Given the description of an element on the screen output the (x, y) to click on. 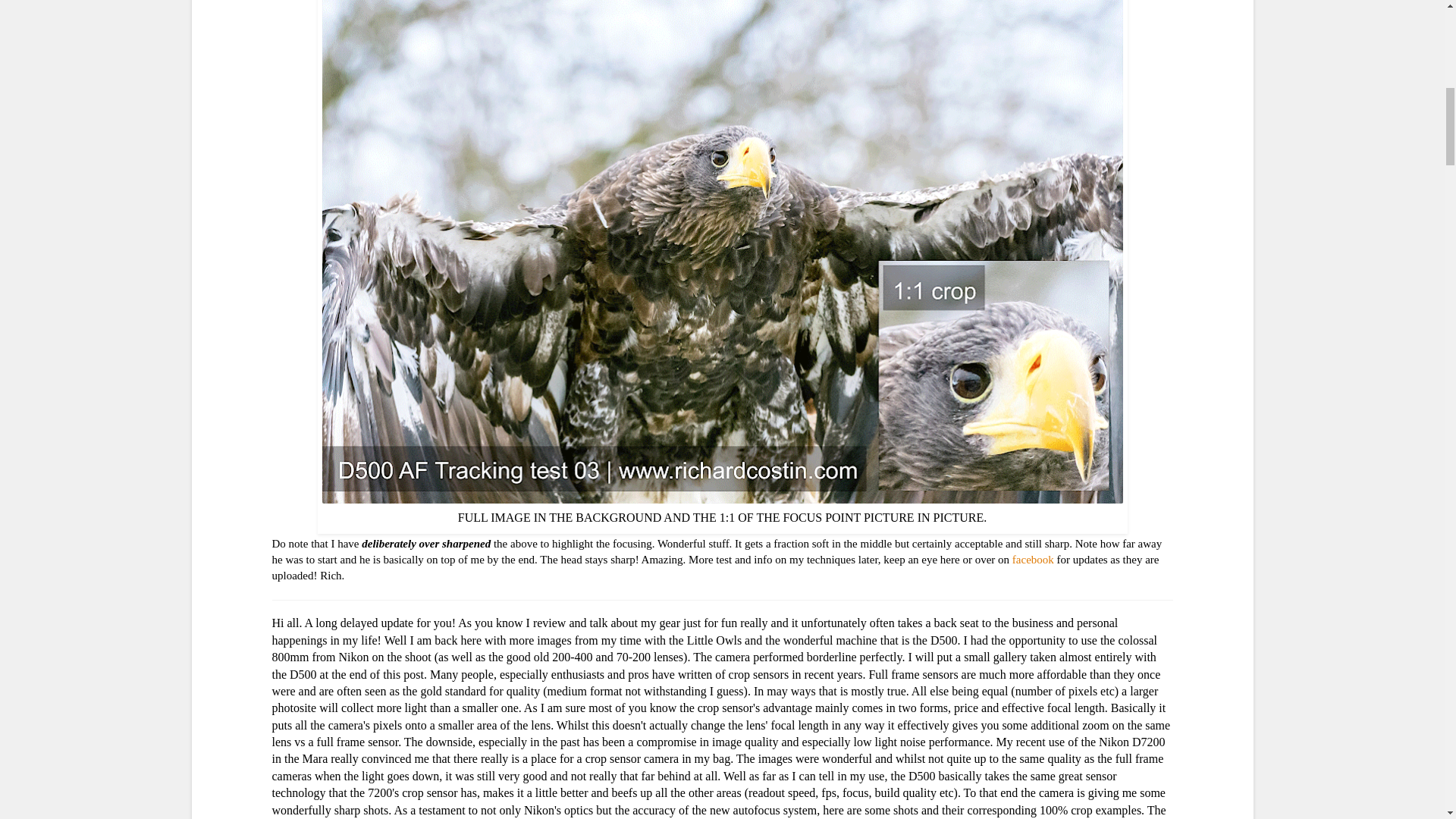
facebook (1032, 559)
